Given the description of an element on the screen output the (x, y) to click on. 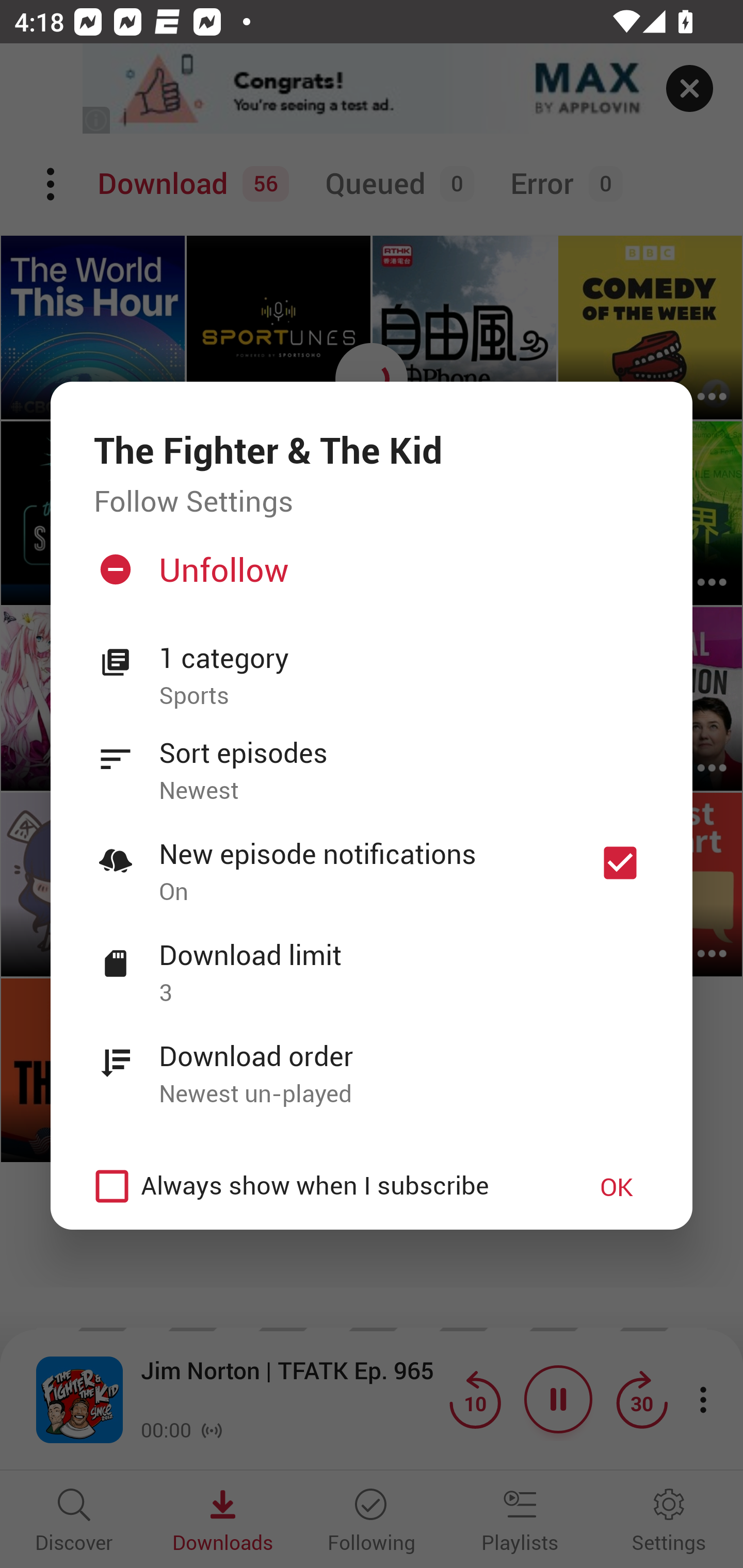
Unfollow (369, 576)
1 category (404, 658)
Sports (404, 696)
Sort episodes Newest (371, 760)
New episode notifications (620, 863)
Download limit 3 (371, 962)
Download order Newest un-played (371, 1063)
OK (616, 1186)
Always show when I subscribe (320, 1186)
